Given the description of an element on the screen output the (x, y) to click on. 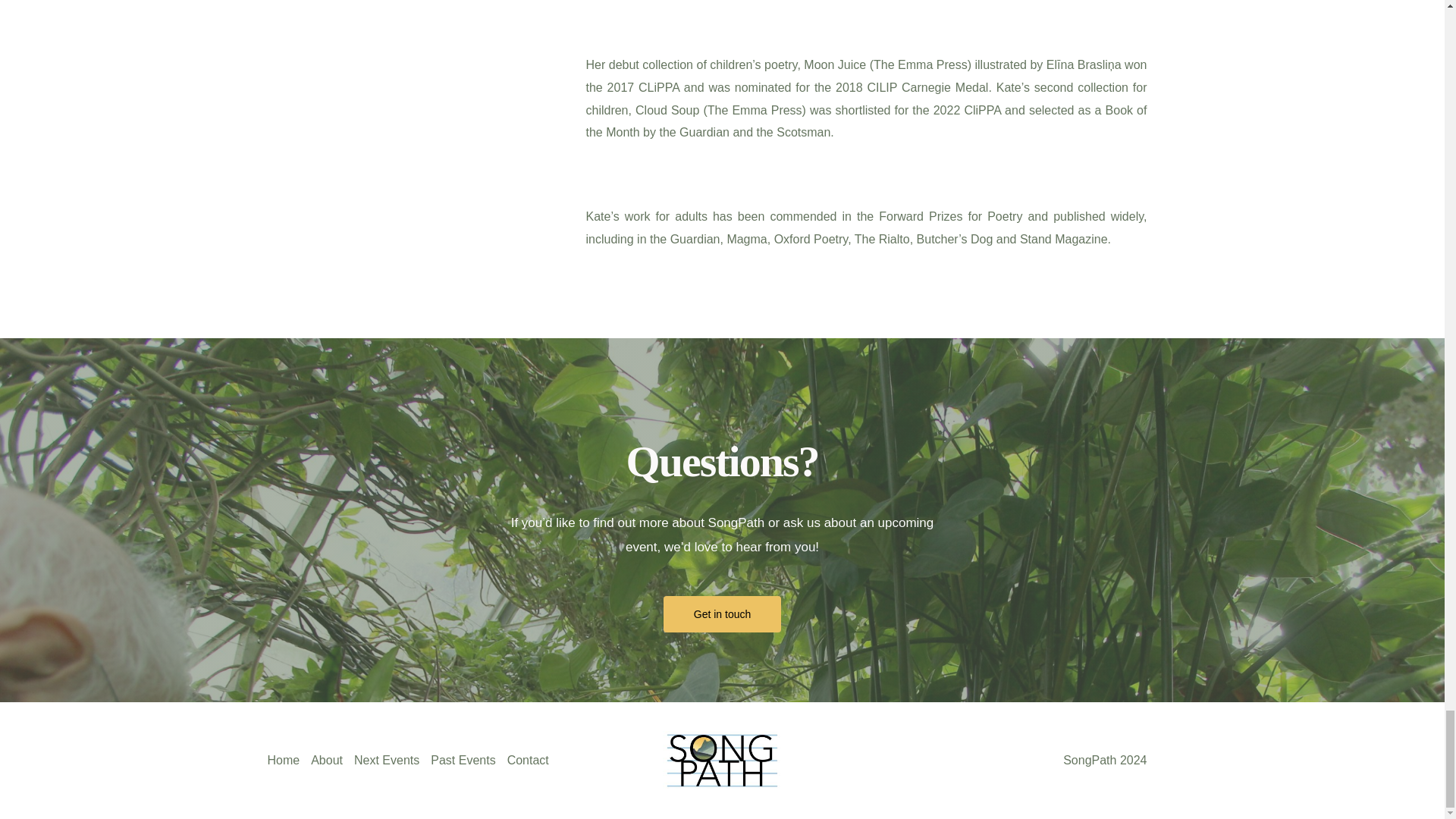
About (332, 760)
Get in touch (722, 614)
Home (288, 760)
Next Events (391, 760)
Past Events (468, 760)
Contact (533, 760)
